Given the description of an element on the screen output the (x, y) to click on. 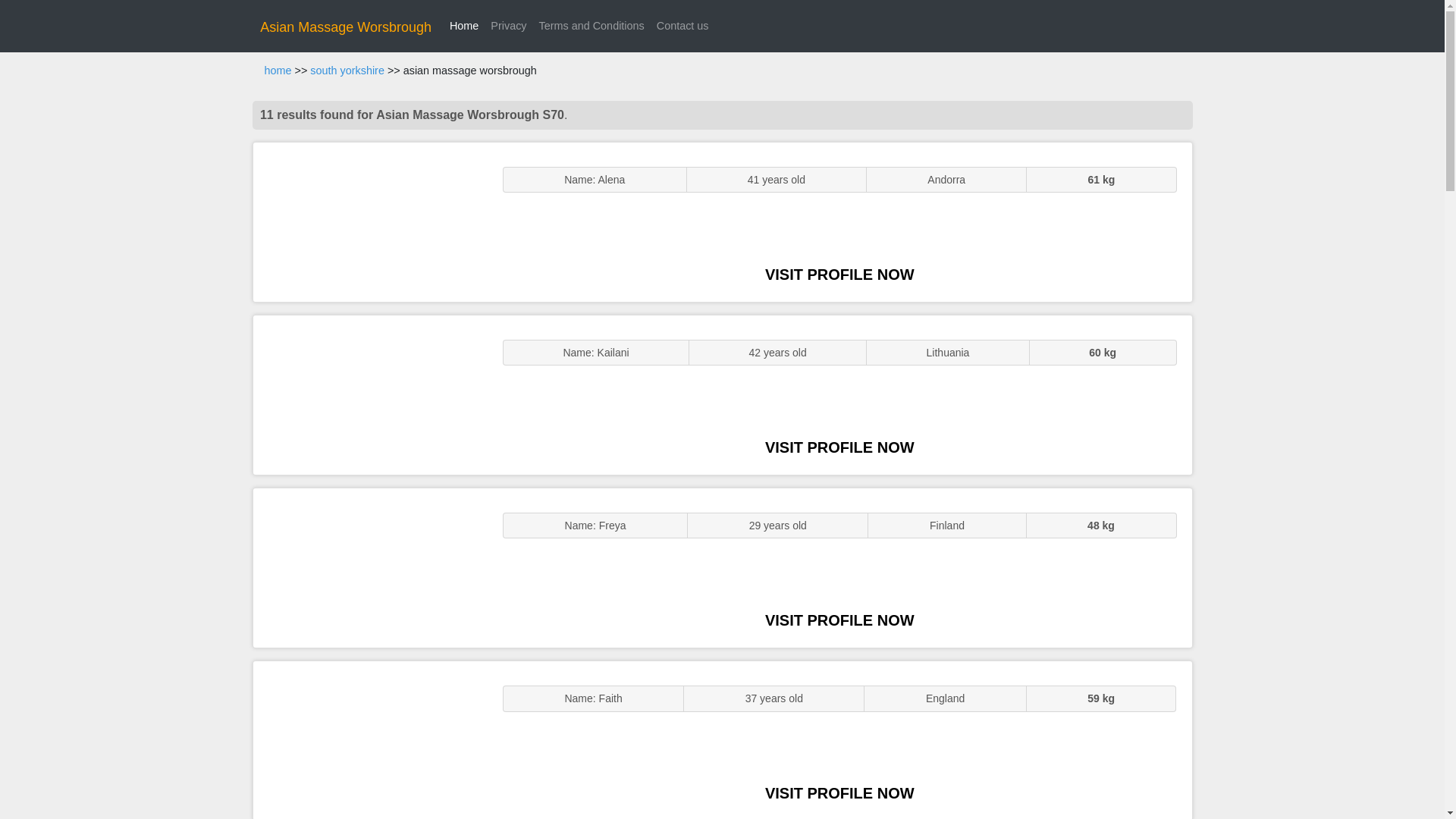
Sexy (370, 567)
GFE (370, 395)
VISIT PROFILE NOW (839, 446)
home (277, 70)
VISIT PROFILE NOW (839, 274)
VISIT PROFILE NOW (839, 792)
Asian Massage Worsbrough (345, 27)
 ENGLISH STUNNER (370, 222)
Terms and Conditions (591, 25)
Sluts (370, 739)
VISIT PROFILE NOW (839, 619)
Privacy (508, 25)
Contact us (682, 25)
south yorkshire (347, 70)
